Given the description of an element on the screen output the (x, y) to click on. 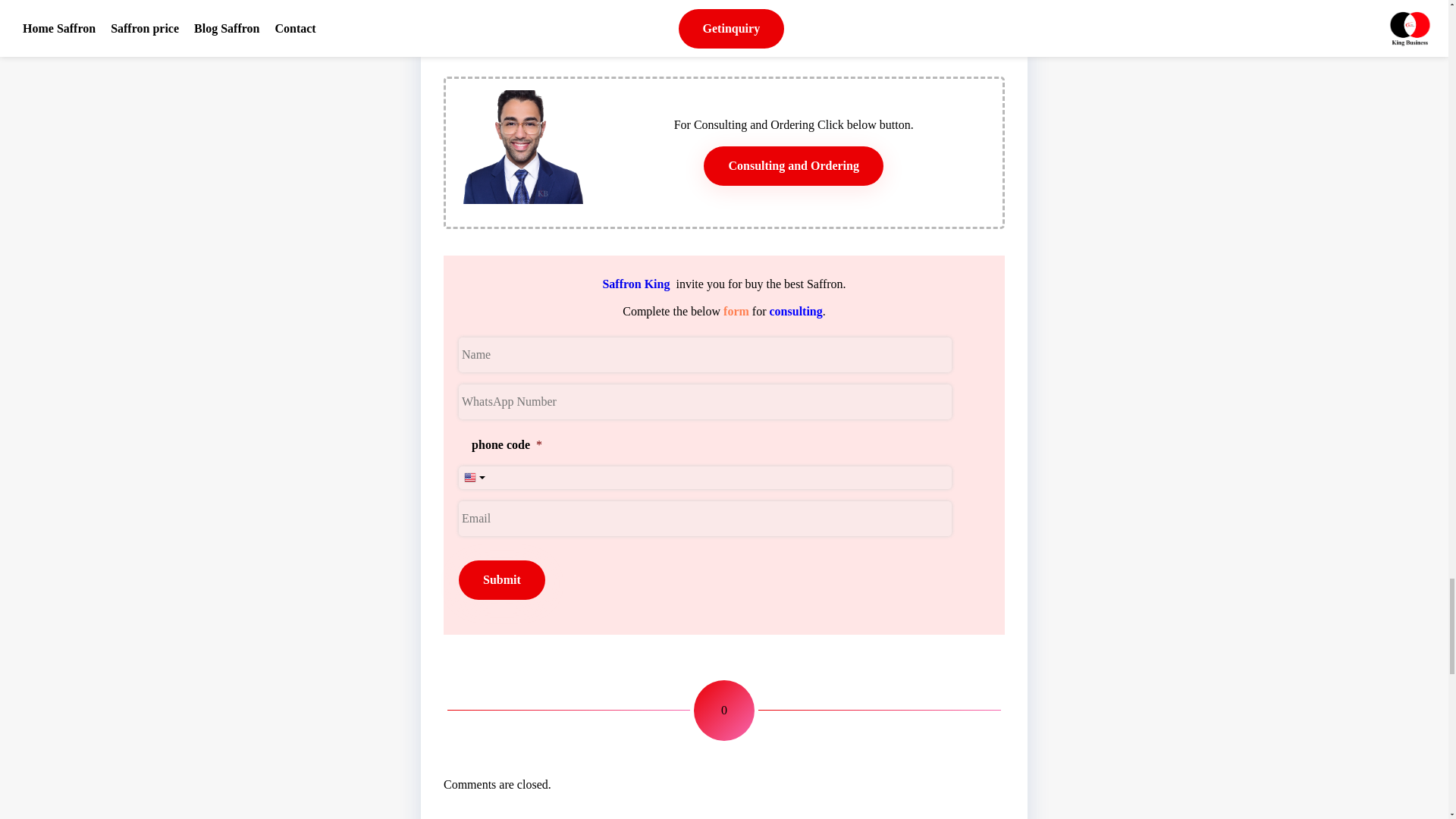
Consulting and Ordering (792, 165)
Saffron King (635, 283)
Submit (501, 579)
consulting (796, 310)
form (736, 310)
